Given the description of an element on the screen output the (x, y) to click on. 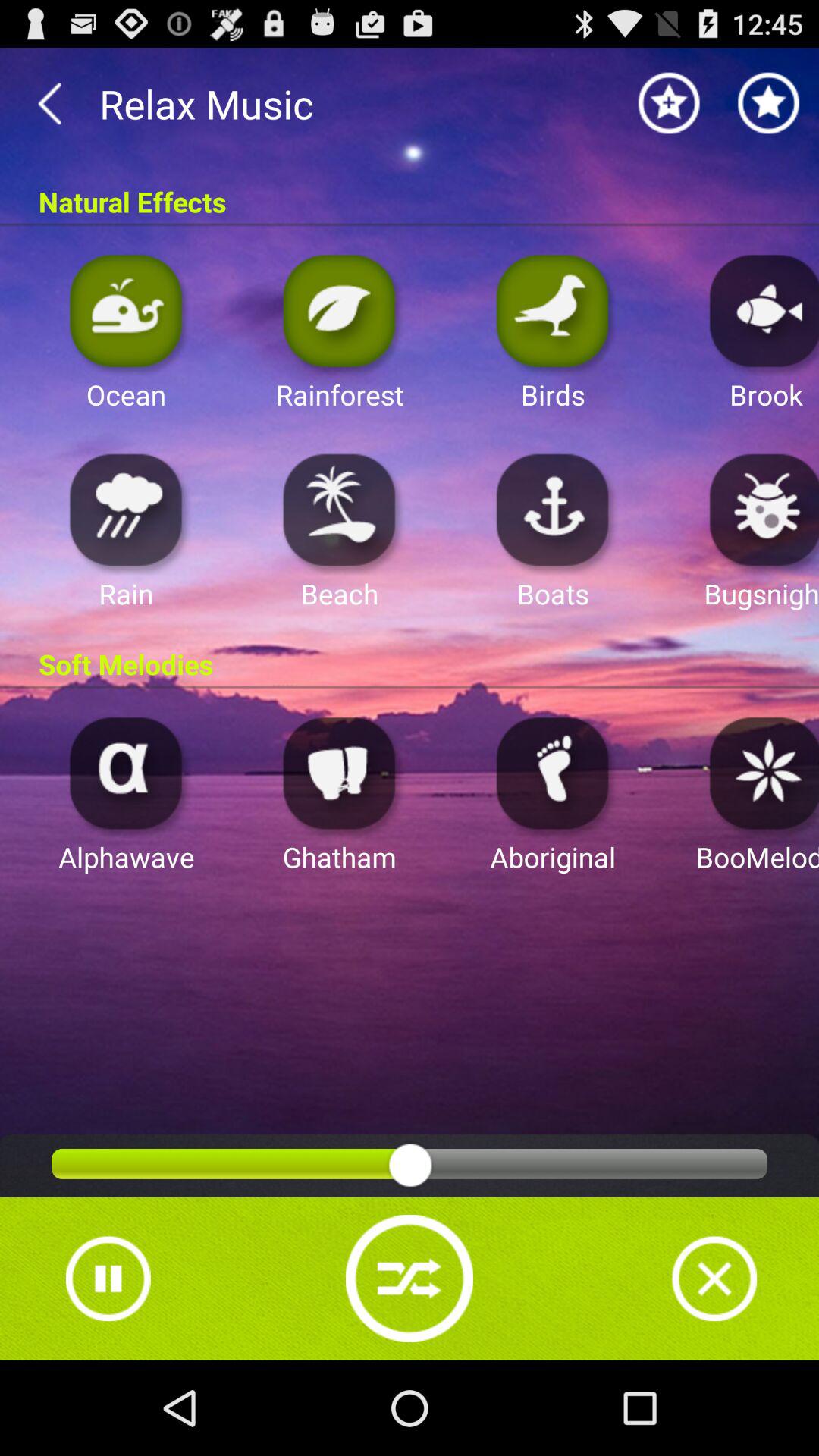
to mark it favorite (769, 103)
